Given the description of an element on the screen output the (x, y) to click on. 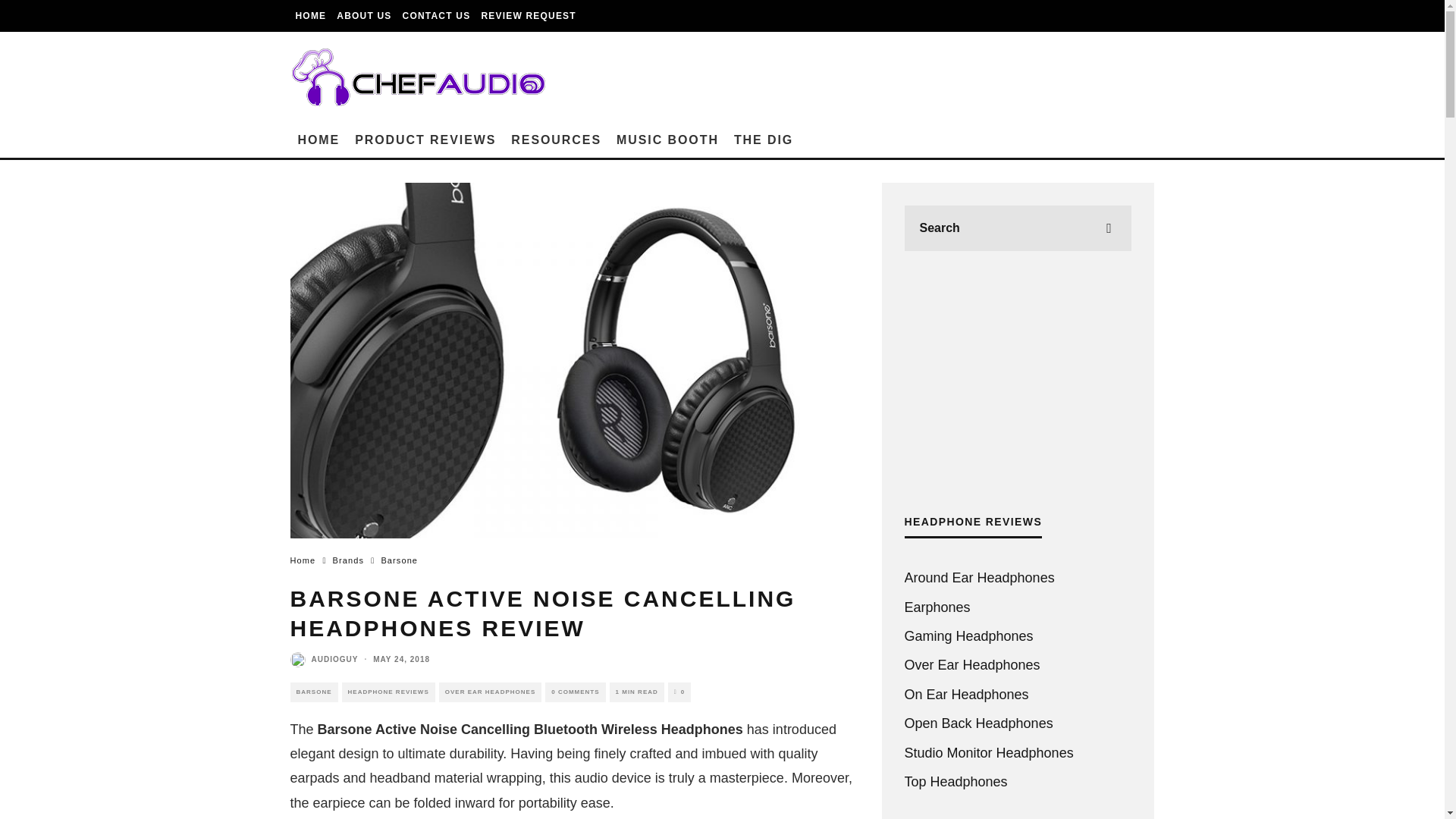
Brands (348, 560)
HOME (318, 140)
MUSIC BOOTH (667, 140)
REVIEW REQUEST (528, 15)
CONTACT US (436, 15)
THE DIG (763, 140)
PRODUCT REVIEWS (425, 140)
RESOURCES (555, 140)
ABOUT US (363, 15)
HOME (310, 15)
Home (302, 560)
